Given the description of an element on the screen output the (x, y) to click on. 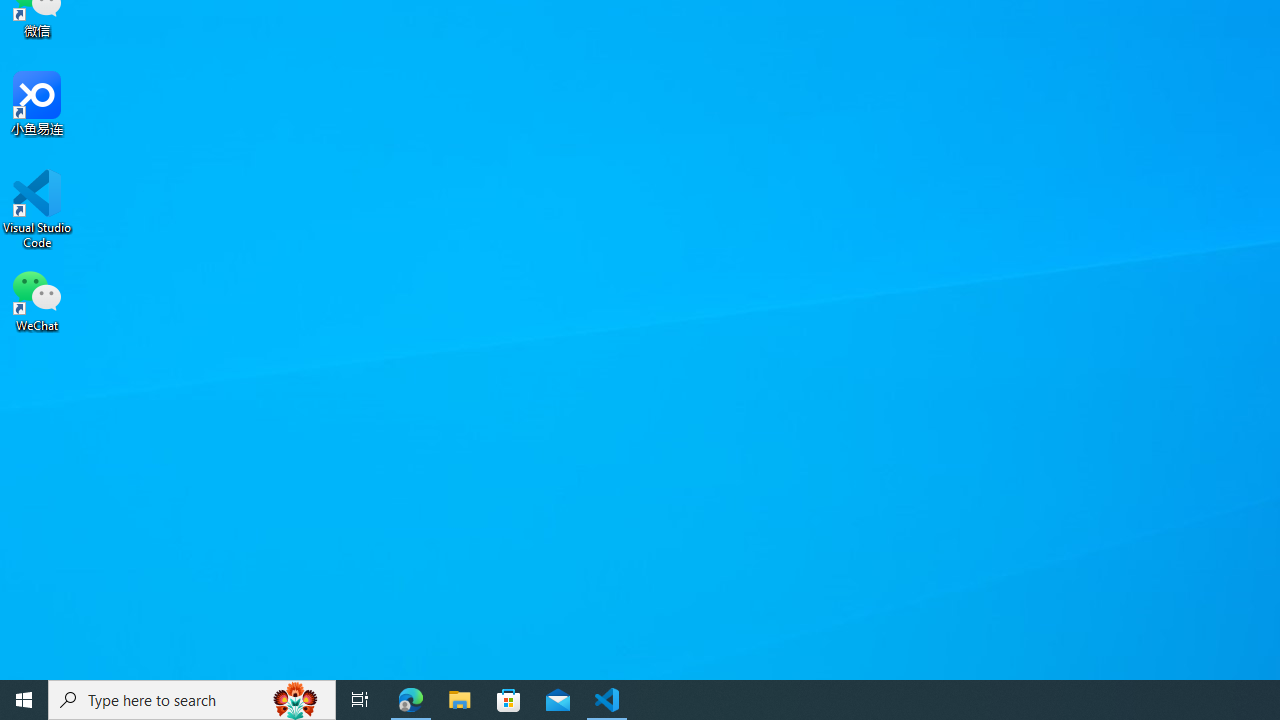
Visual Studio Code (37, 209)
Task View (359, 699)
Search highlights icon opens search home window (295, 699)
WeChat (37, 299)
Visual Studio Code - 1 running window (607, 699)
Type here to search (191, 699)
File Explorer (460, 699)
Start (24, 699)
Microsoft Store (509, 699)
Microsoft Edge - 1 running window (411, 699)
